Given the description of an element on the screen output the (x, y) to click on. 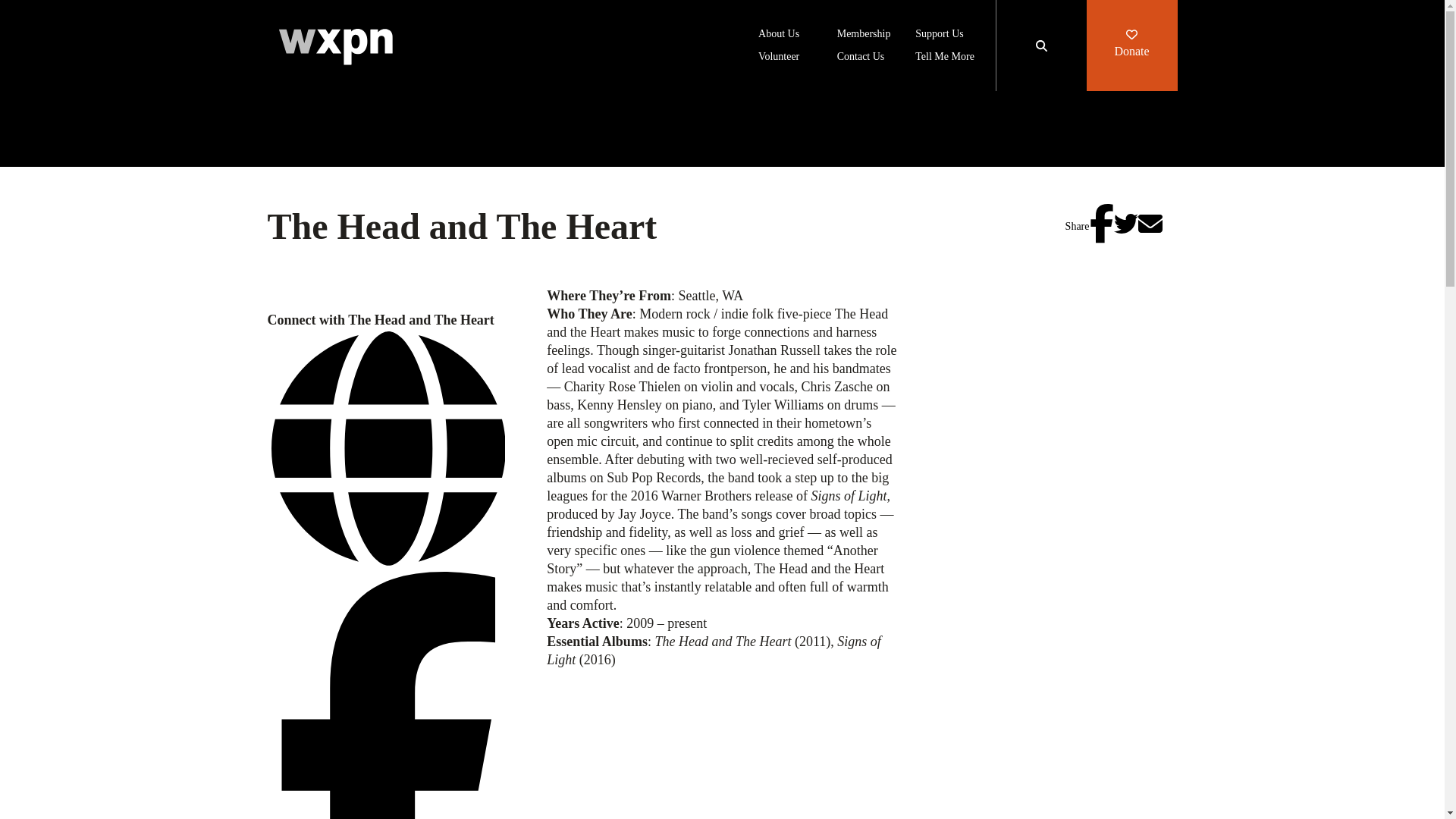
Membership (864, 35)
Tell Me More (944, 57)
Support Us (938, 35)
About Us (778, 35)
Volunteer (778, 57)
Contact Us (861, 57)
Donate (1131, 45)
